Given the description of an element on the screen output the (x, y) to click on. 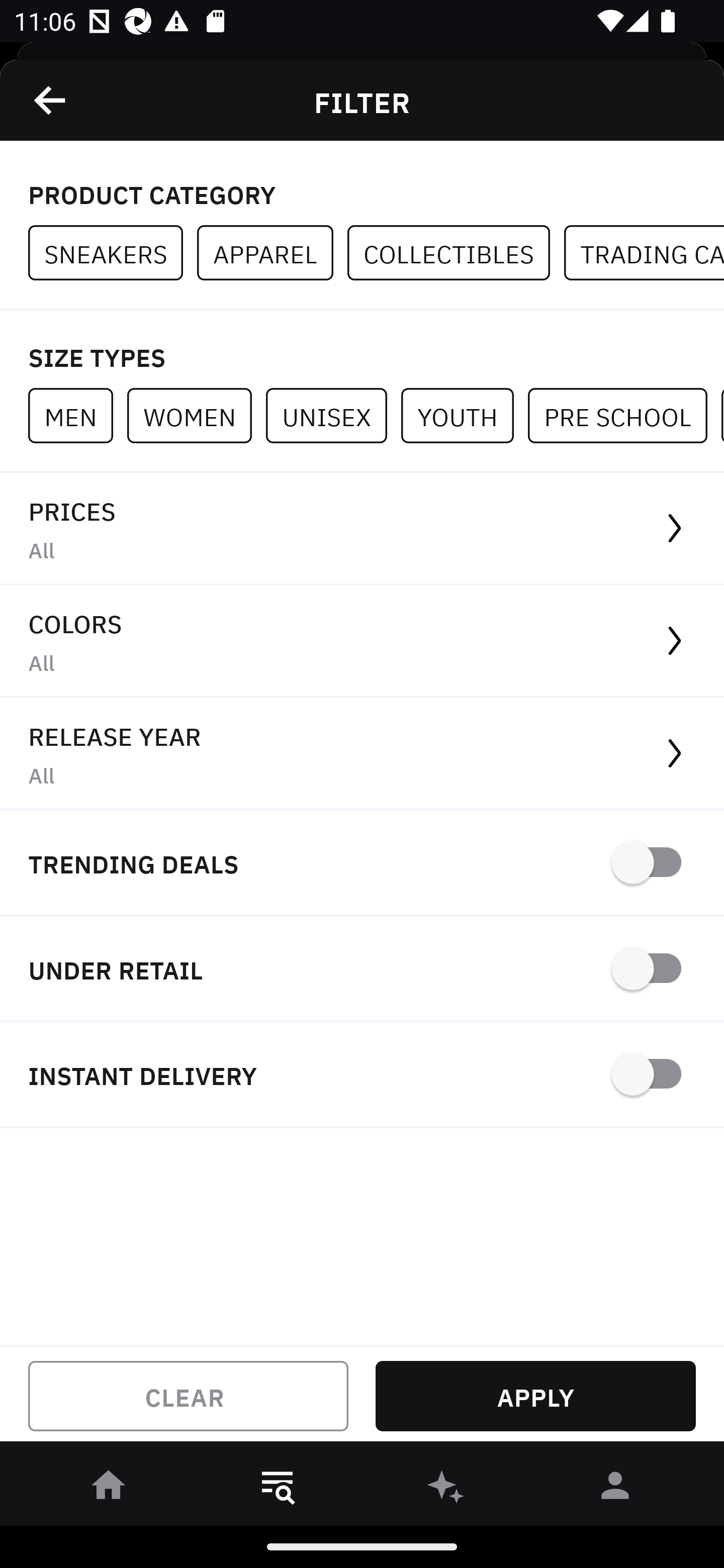
 (50, 100)
SNEAKERS (112, 252)
APPAREL (271, 252)
COLLECTIBLES (455, 252)
TRADING CARDS (643, 252)
MEN (77, 415)
WOMEN (196, 415)
UNISEX (333, 415)
YOUTH (464, 415)
PRE SCHOOL (624, 415)
PRICES All (362, 528)
COLORS All (362, 640)
RELEASE YEAR All (362, 753)
TRENDING DEALS (362, 863)
UNDER RETAIL (362, 969)
INSTANT DELIVERY (362, 1075)
CLEAR  (188, 1396)
APPLY (535, 1396)
󰋜 (108, 1488)
󱎸 (277, 1488)
󰫢 (446, 1488)
󰀄 (615, 1488)
